Given the description of an element on the screen output the (x, y) to click on. 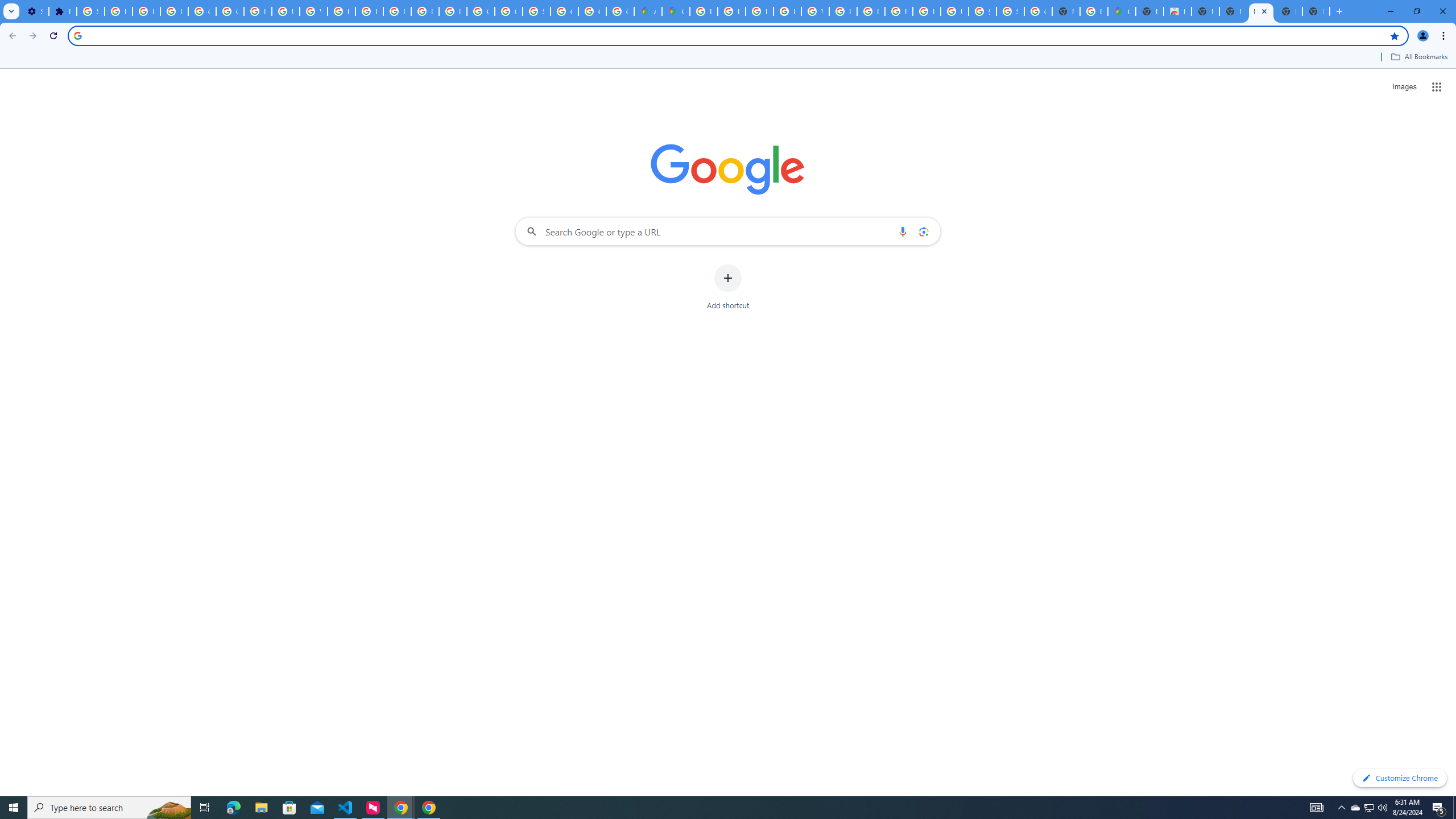
Sign in - Google Accounts (90, 11)
Policy Accountability and Transparency - Transparency Center (703, 11)
